Given the description of an element on the screen output the (x, y) to click on. 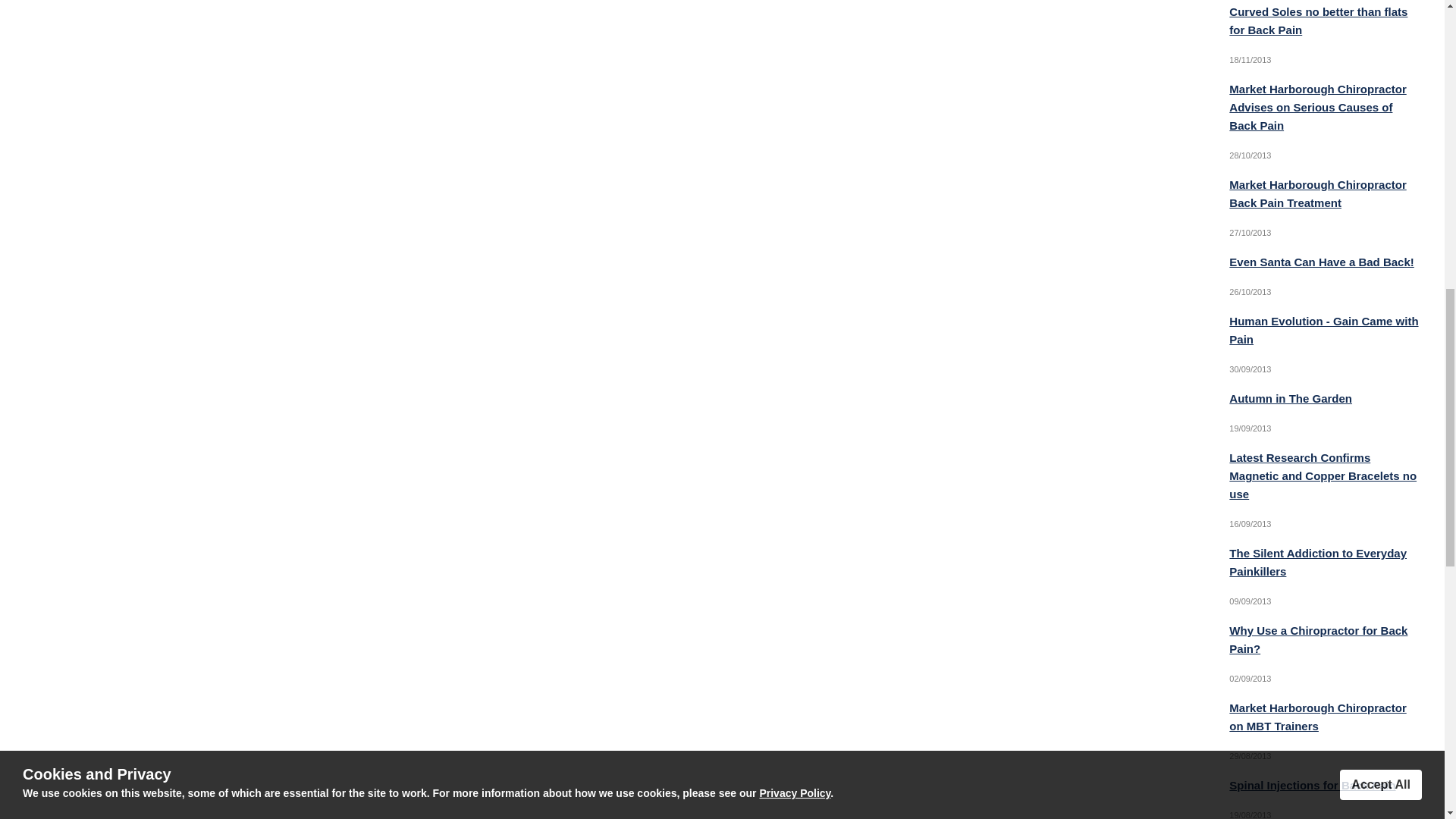
Human Evolution - Gain Came with Pain (1323, 329)
Market Harborough Chiropractor on MBT Trainers (1317, 716)
Why Use a Chiropractor for Back Pain? (1317, 639)
Spinal Injections for Back Pain (1311, 784)
Even Santa Can Have a Bad Back! (1320, 261)
The Silent Addiction to Everyday Painkillers (1317, 562)
Autumn in The Garden (1290, 398)
Market Harborough Chiropractor Back Pain Treatment (1317, 193)
Curved Soles no better than flats for Back Pain (1317, 20)
